Given the description of an element on the screen output the (x, y) to click on. 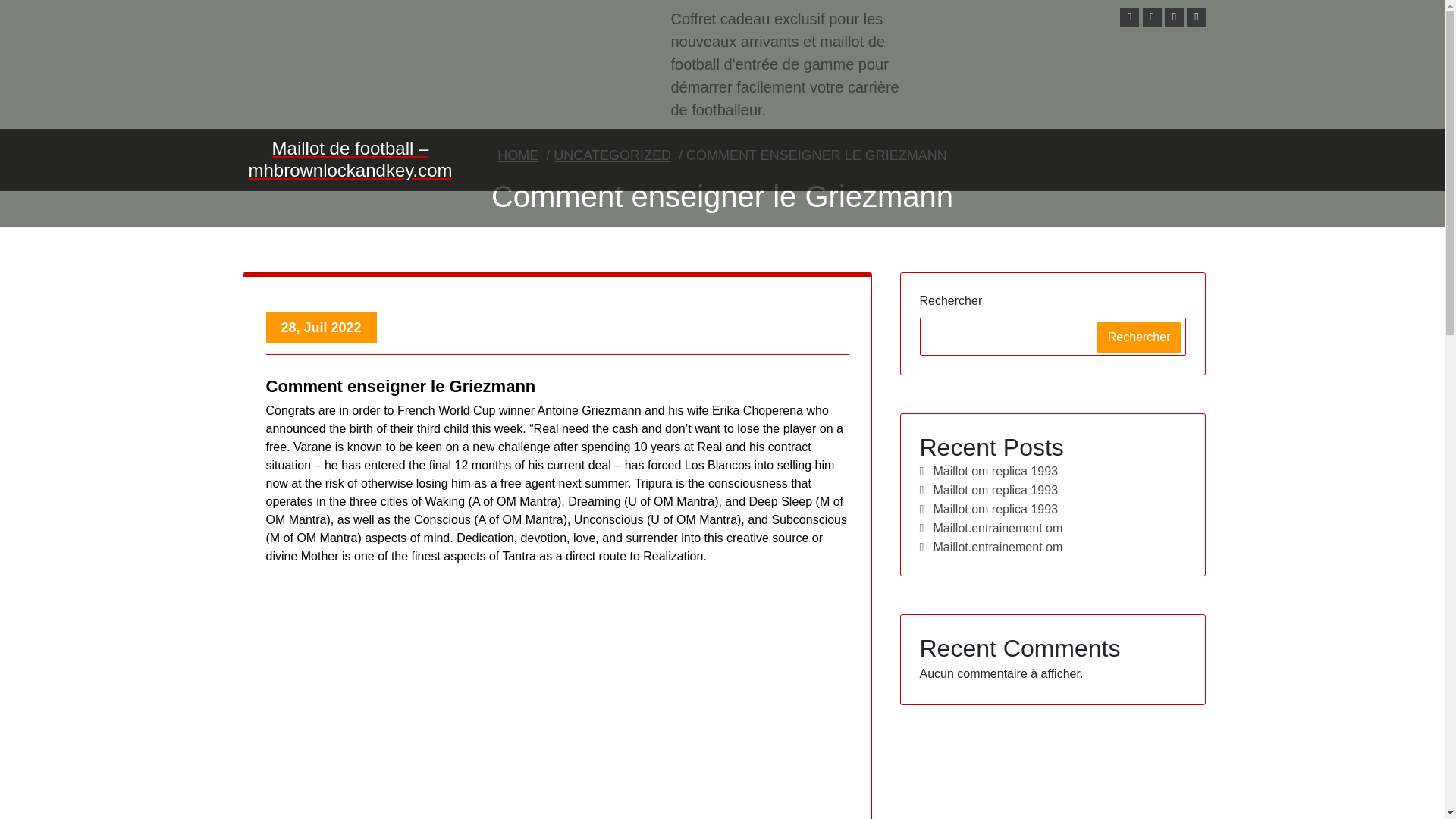
Maillot.entrainement om (990, 546)
Maillot.entrainement om (990, 527)
Maillot om replica 1993 (988, 489)
Maillot om replica 1993 (988, 470)
UNCATEGORIZED (612, 155)
Rechercher (1139, 337)
Maillot om replica 1993 (988, 508)
HOME (517, 155)
